Given the description of an element on the screen output the (x, y) to click on. 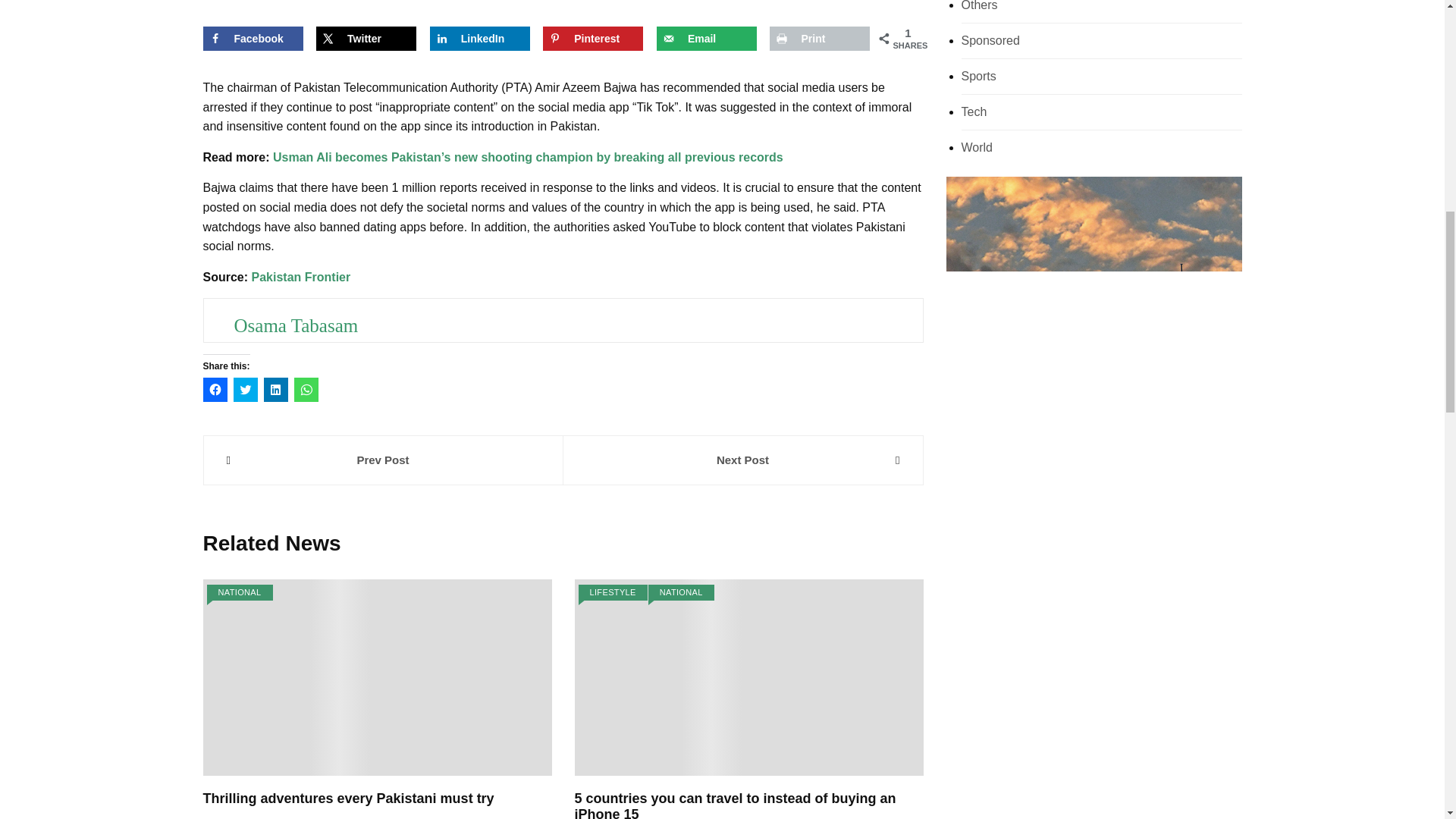
Email (706, 38)
Print (819, 38)
Click to share on WhatsApp (306, 389)
Print this webpage (819, 38)
Share on LinkedIn (479, 38)
Click to share on Twitter (244, 389)
Pinterest (593, 38)
NATIONAL (239, 592)
Send over email (706, 38)
Twitter (365, 38)
